Given the description of an element on the screen output the (x, y) to click on. 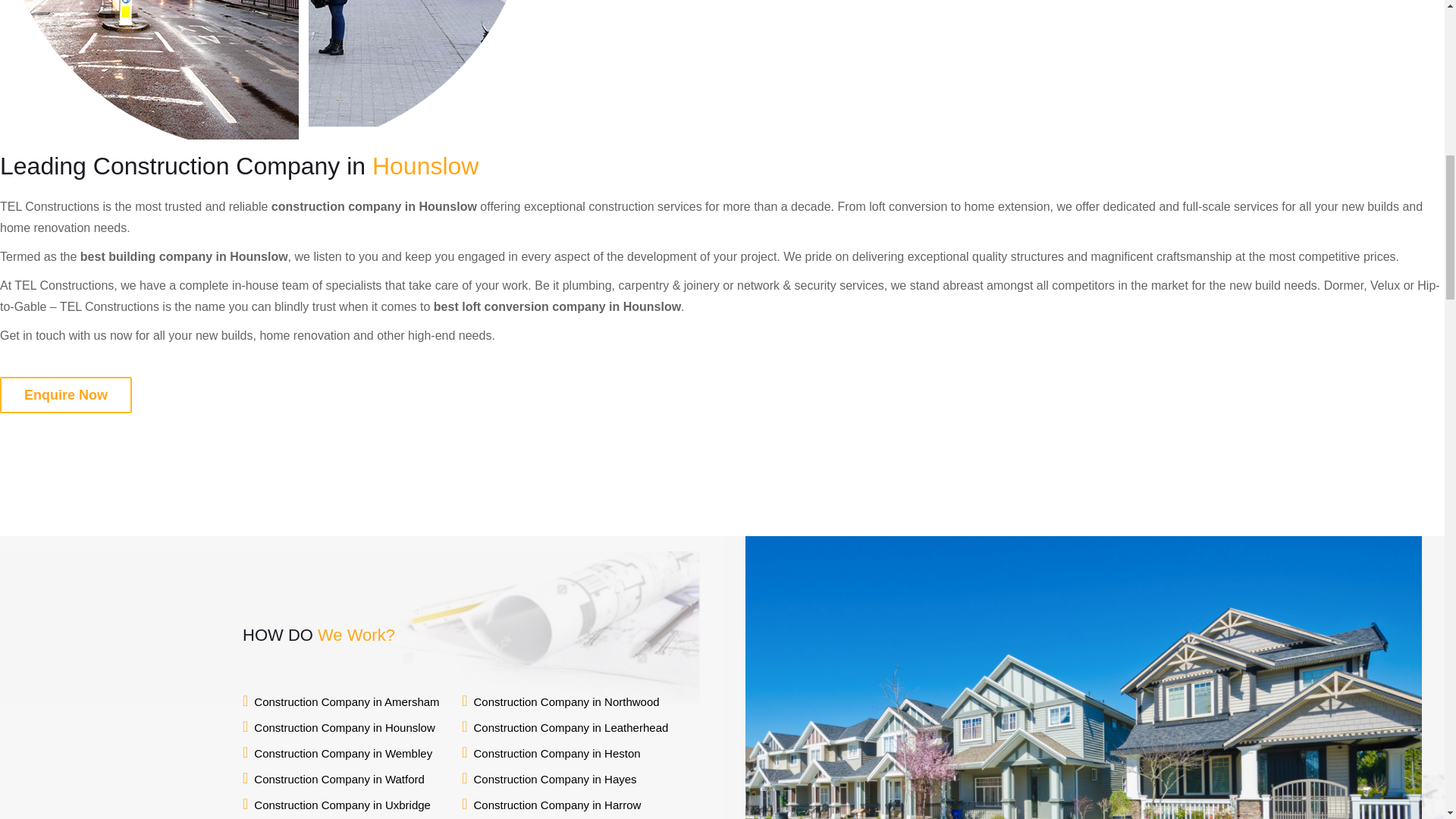
Construction Company in Uxbridge (341, 805)
Construction Company in Heston (556, 753)
Construction Company in Watford (339, 779)
Construction Company in Harrow (556, 805)
Construction Company in Leatherhead (570, 728)
Construction Company in Northwood (566, 701)
Construction Company in Amersham (346, 701)
Construction Company in Hounslow (343, 728)
Construction Company in Hayes (554, 779)
Enquire Now (66, 394)
Construction Company in Wembley (342, 753)
